Given the description of an element on the screen output the (x, y) to click on. 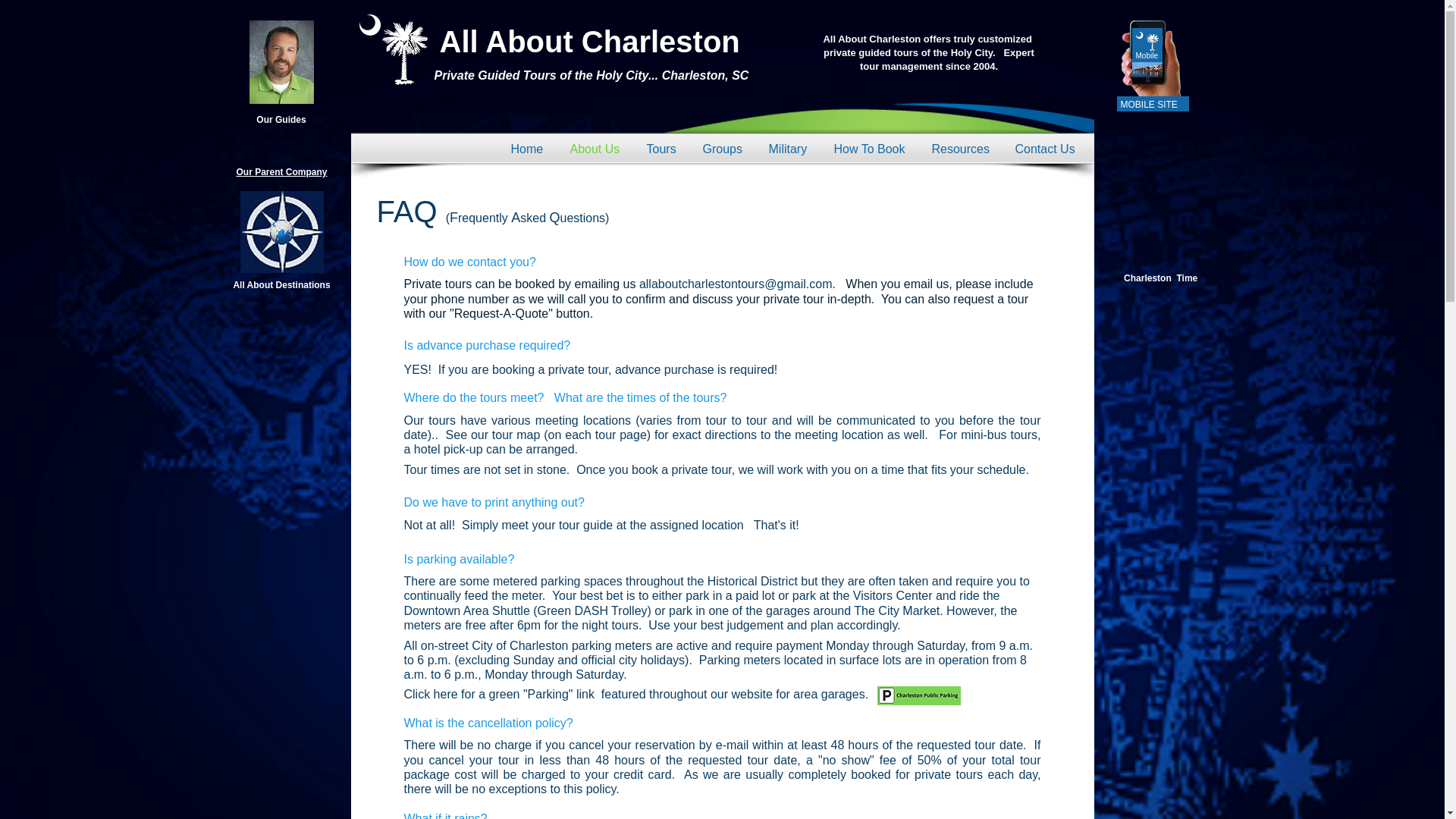
Military (789, 148)
Resources (962, 148)
Home (528, 148)
How To Book (871, 148)
All About Destinations (281, 285)
Our Guides (280, 119)
About Us (595, 148)
Groups (724, 148)
Tours (662, 148)
